Given the description of an element on the screen output the (x, y) to click on. 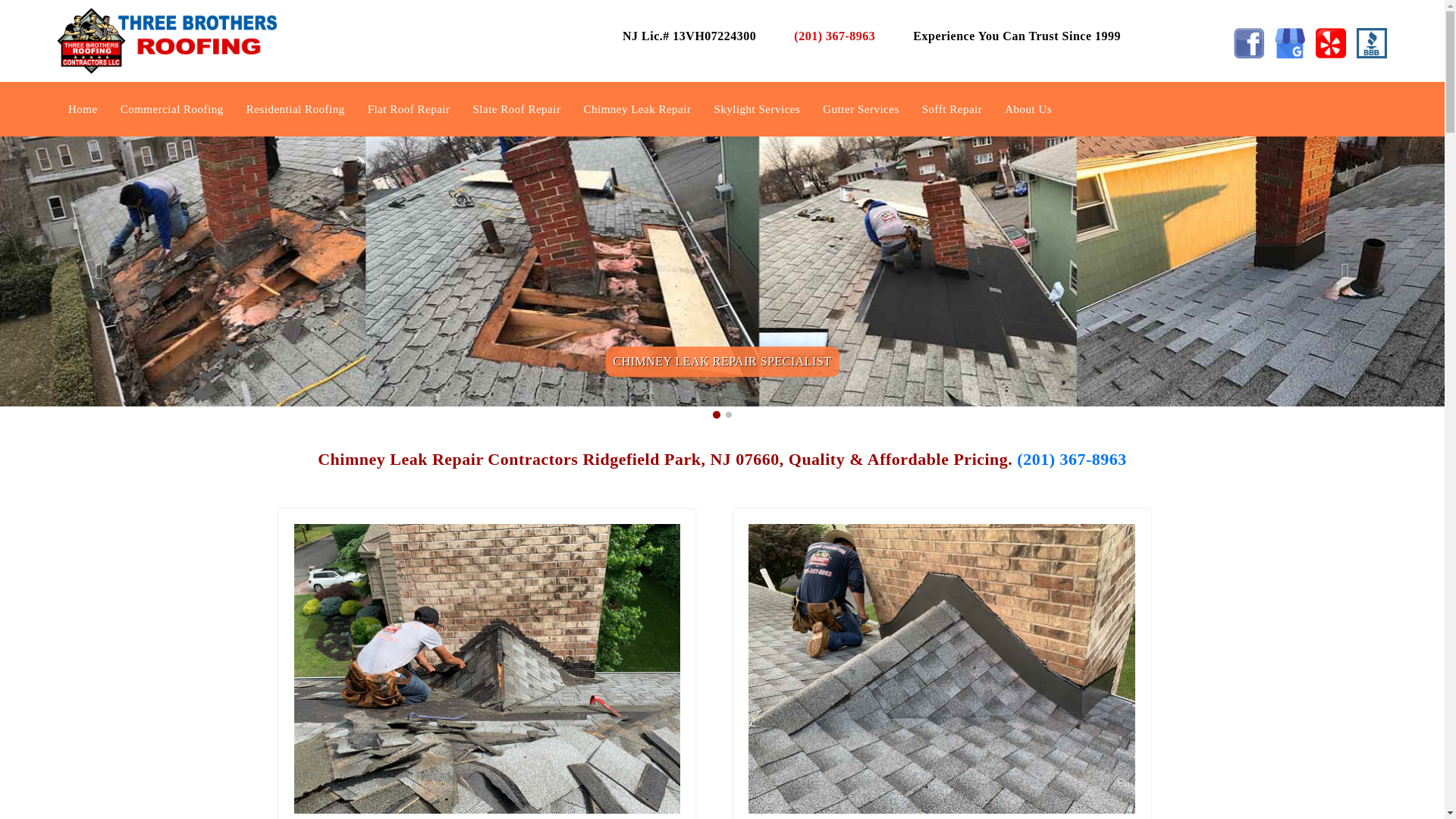
Commercial Roofing (172, 109)
Skylight Services (757, 109)
Commercial Roofing (172, 109)
Experience You Can Trust Since 1999  (1018, 36)
Social Media (1289, 42)
Slate Roof Repair (515, 109)
Sofft Repair (952, 109)
Slate Roof Repair (515, 109)
Social Media (1248, 42)
Home (82, 109)
Home (82, 109)
Residential Roofing (295, 109)
Chimney Leak Repair (636, 109)
About Us (1028, 109)
